Given the description of an element on the screen output the (x, y) to click on. 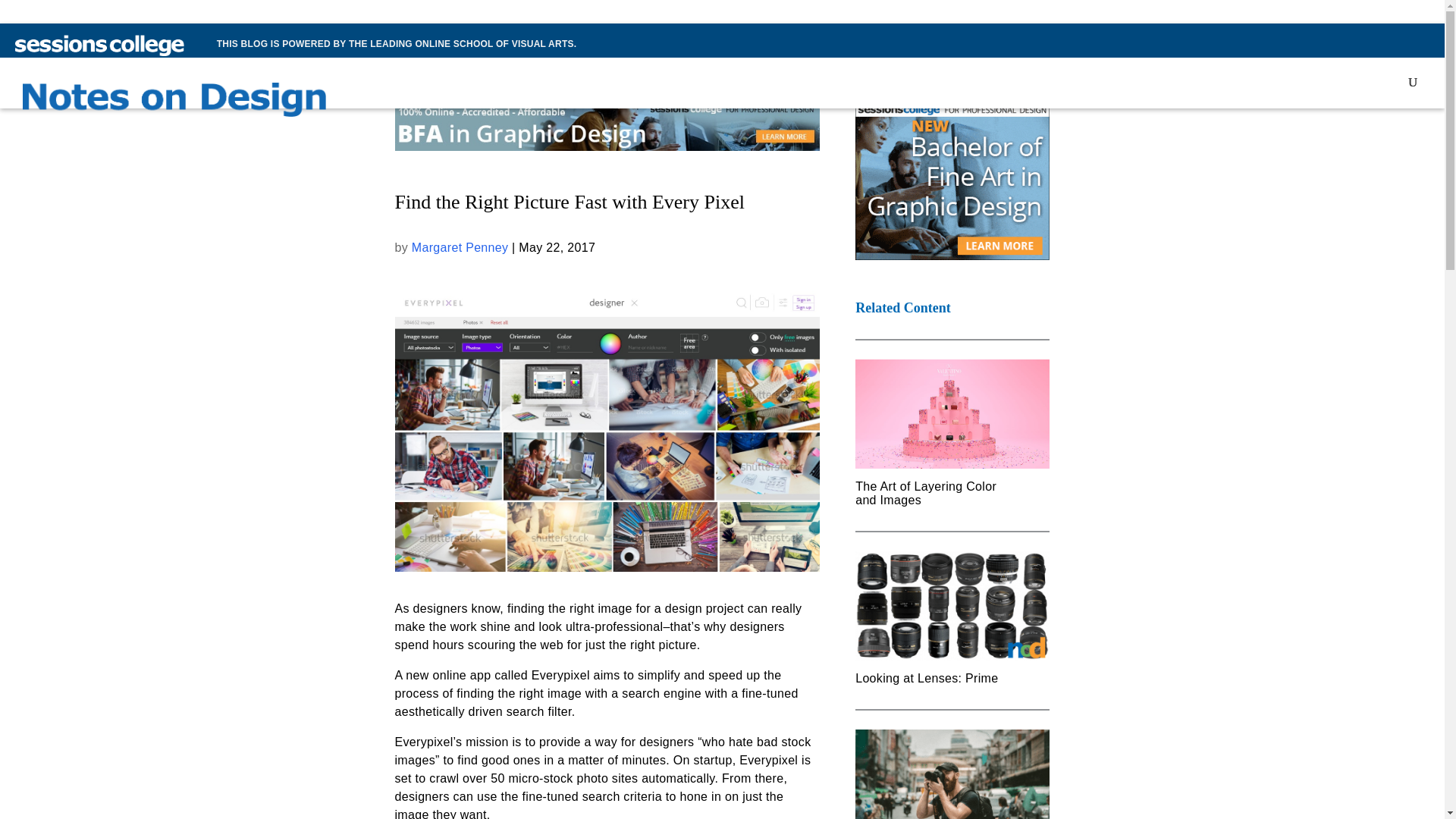
home (174, 104)
banner-bfa-email-728x90 (606, 124)
